Given the description of an element on the screen output the (x, y) to click on. 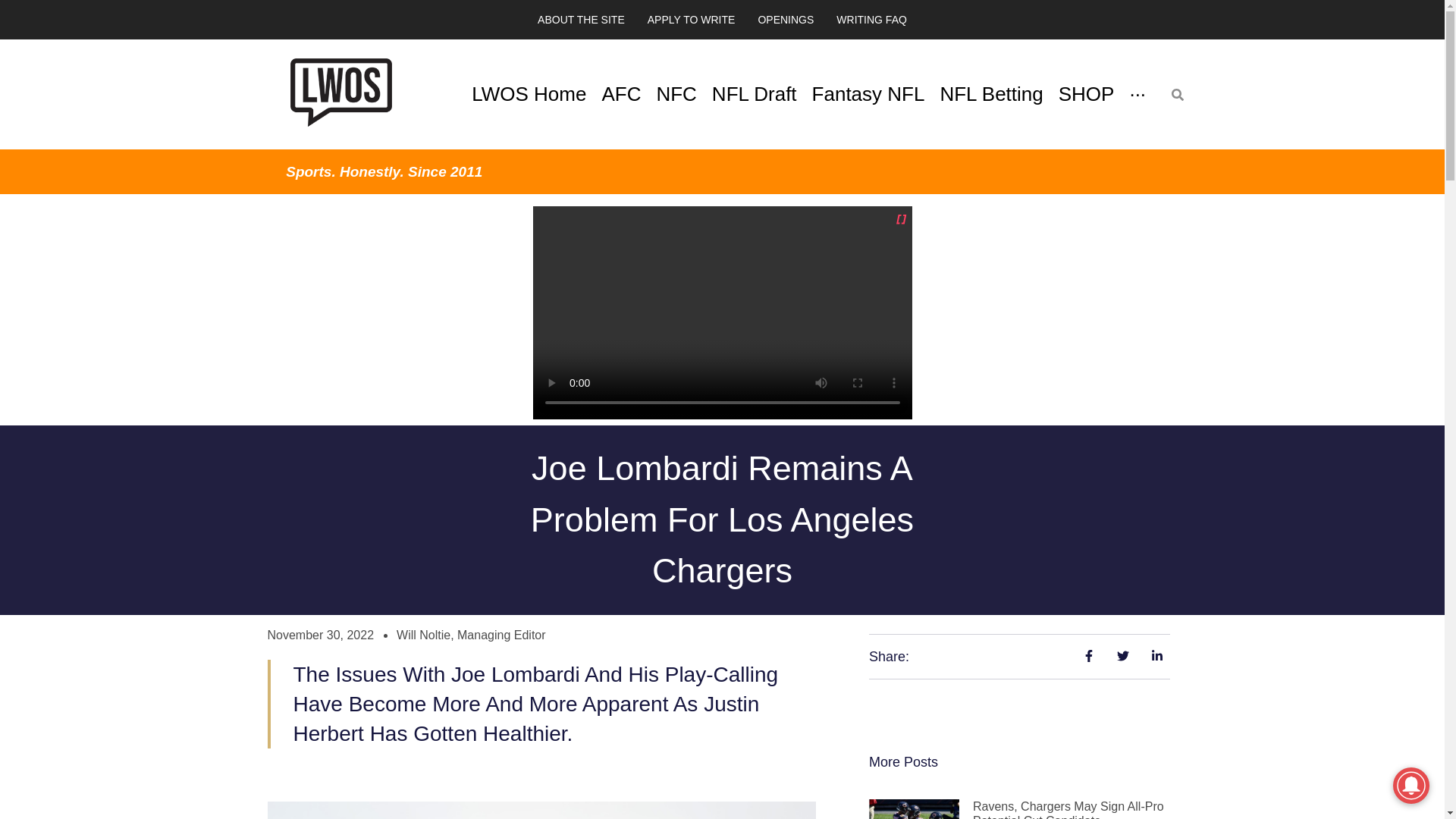
APPLY TO WRITE (691, 19)
OPENINGS (785, 19)
ABOUT THE SITE (581, 19)
WRITING FAQ (871, 19)
